Given the description of an element on the screen output the (x, y) to click on. 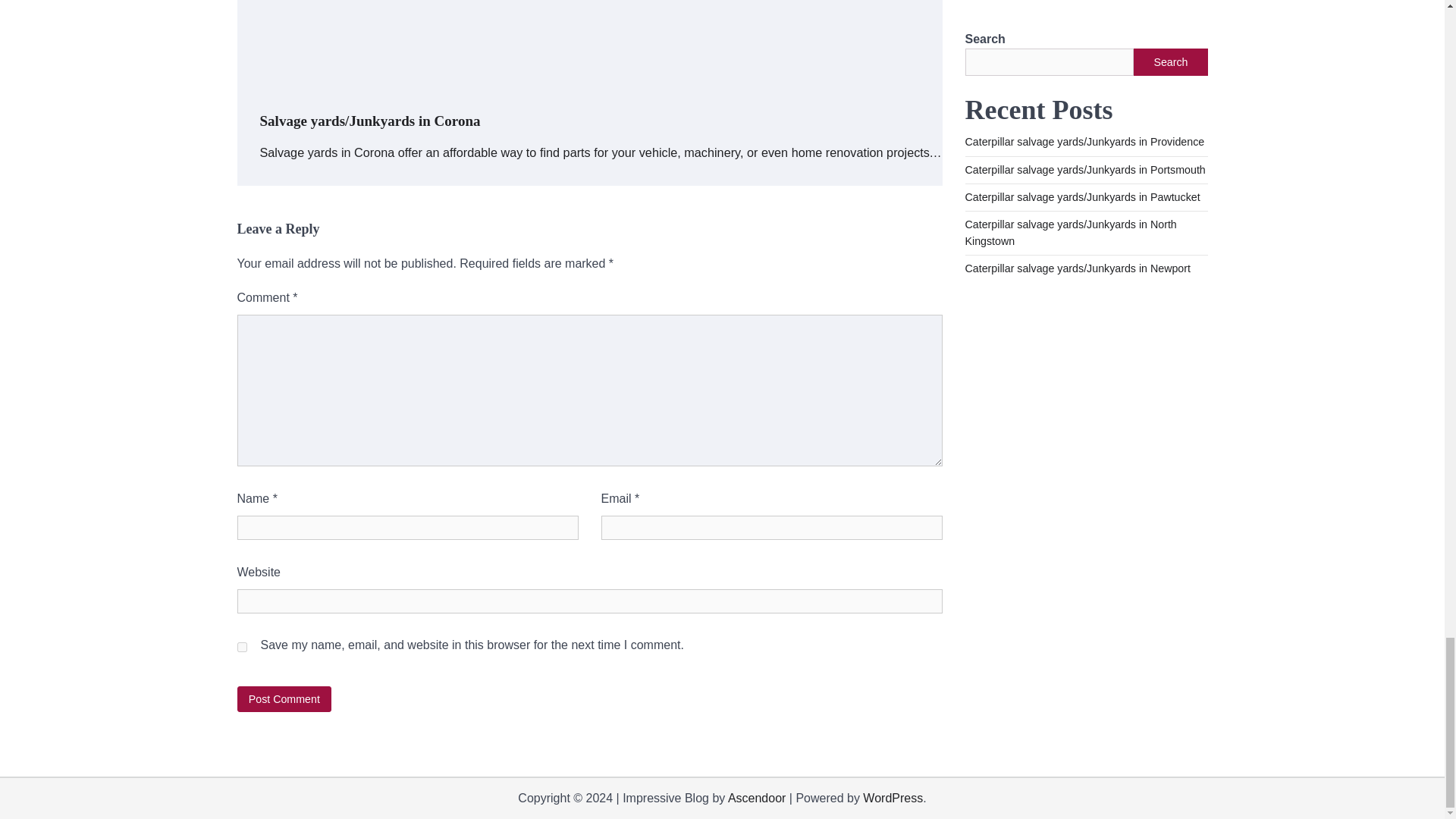
Post Comment (283, 698)
yes (240, 646)
Ascendoor (757, 797)
Post Comment (283, 698)
WordPress (893, 797)
